Given the description of an element on the screen output the (x, y) to click on. 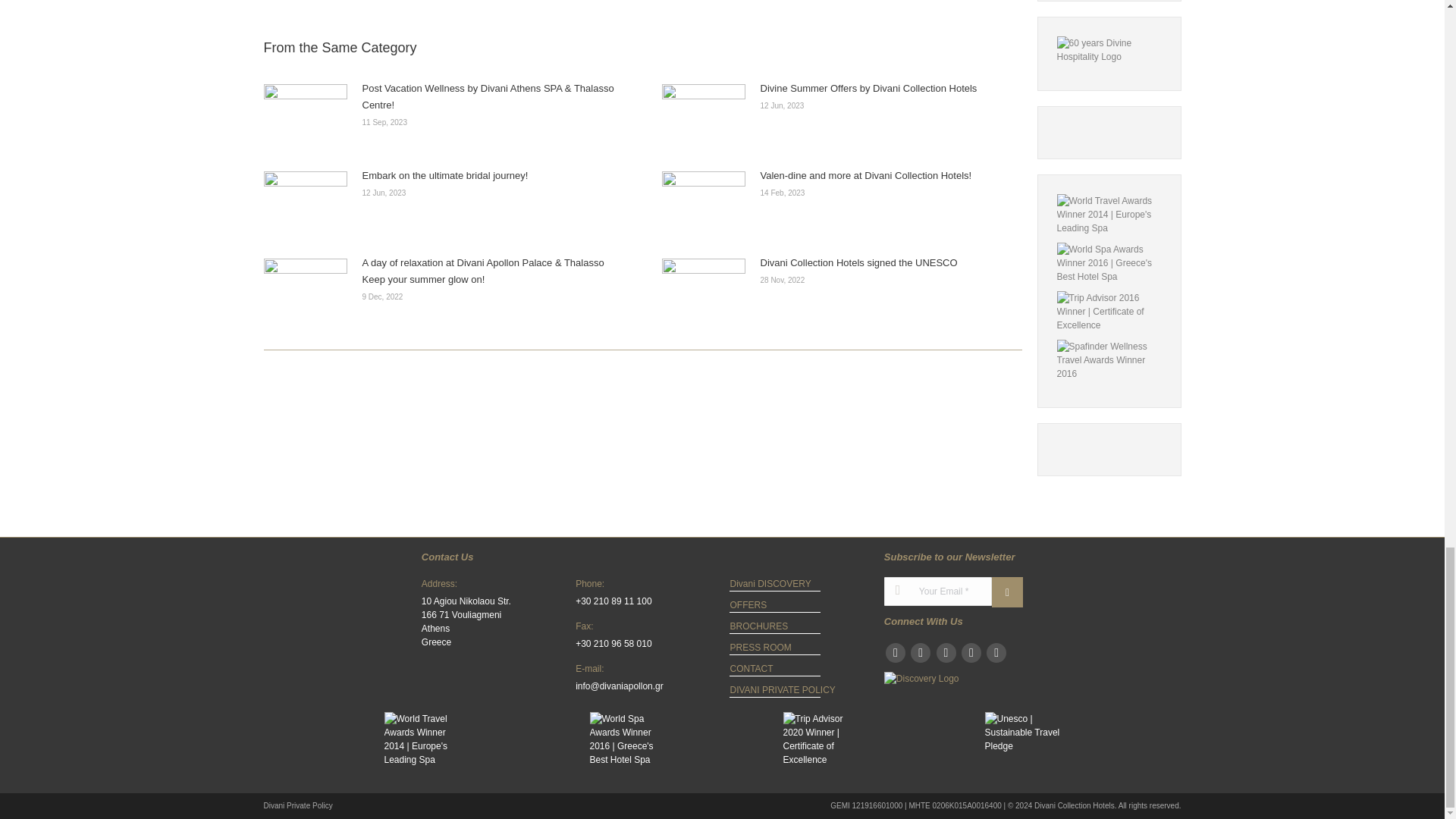
Spafinder Wellness Travel Awards Winner 2016 (1109, 359)
Please type your email (937, 595)
60 Years Anniversary Divanis (1109, 49)
